Given the description of an element on the screen output the (x, y) to click on. 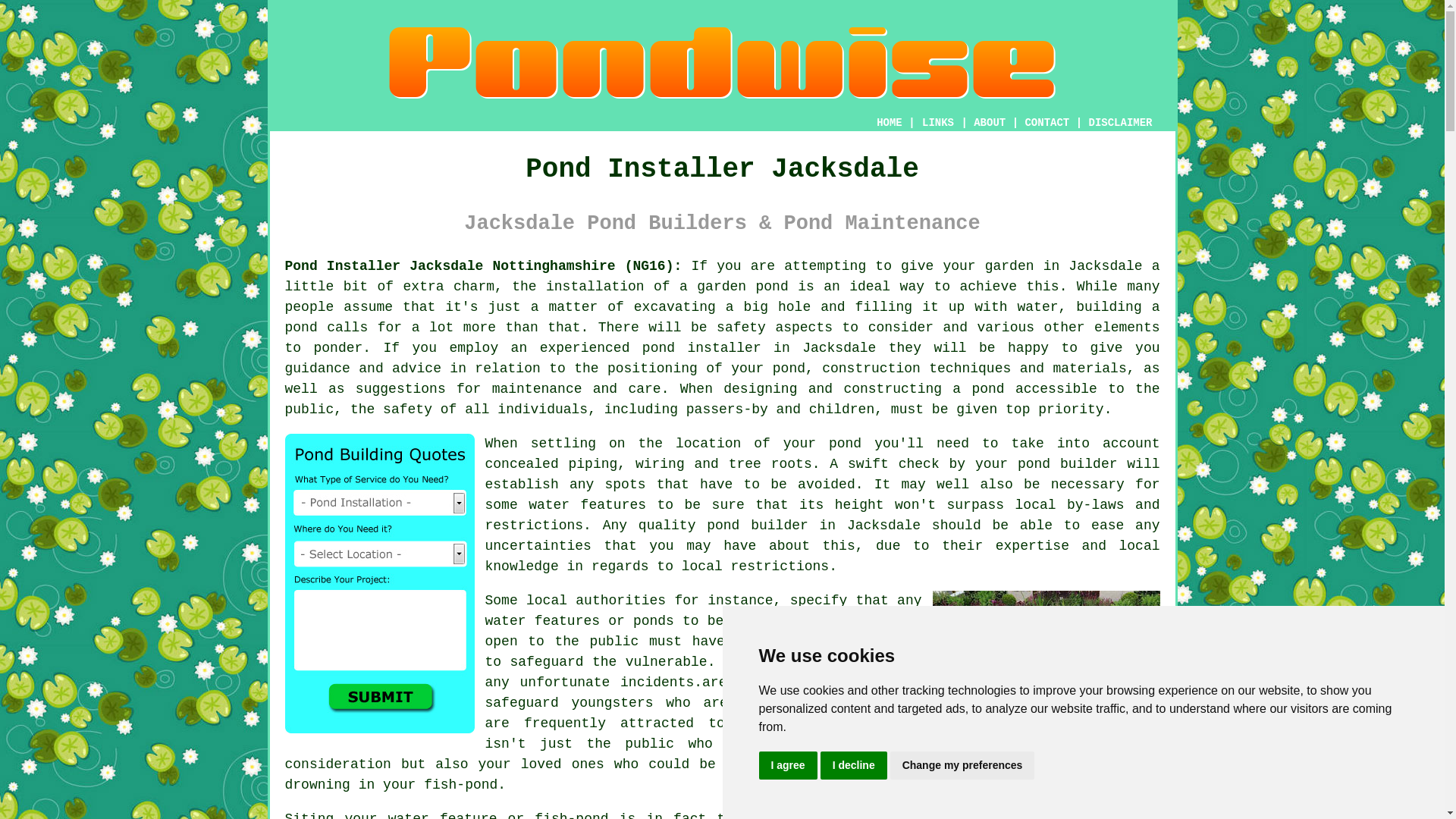
a pond (978, 388)
Change my preferences (962, 765)
I decline (853, 765)
Pond Builders Jacksdale (722, 62)
LINKS (938, 122)
HOME (889, 122)
Free Jacksdale Pond Installer Quotes (379, 583)
safety features (797, 641)
pond (844, 443)
I agree (787, 765)
